Given the description of an element on the screen output the (x, y) to click on. 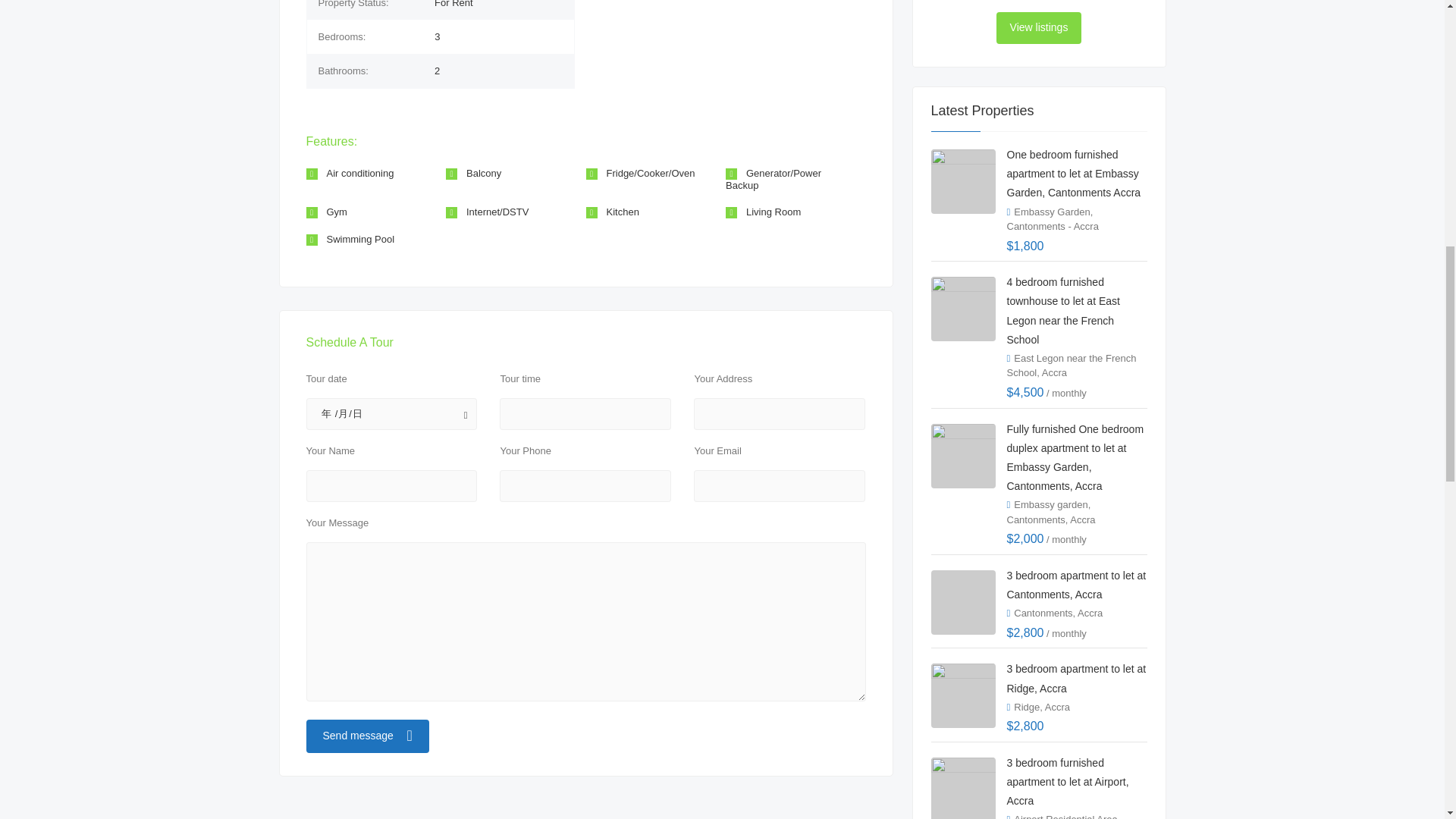
Send message (367, 736)
Send message (367, 736)
